Given the description of an element on the screen output the (x, y) to click on. 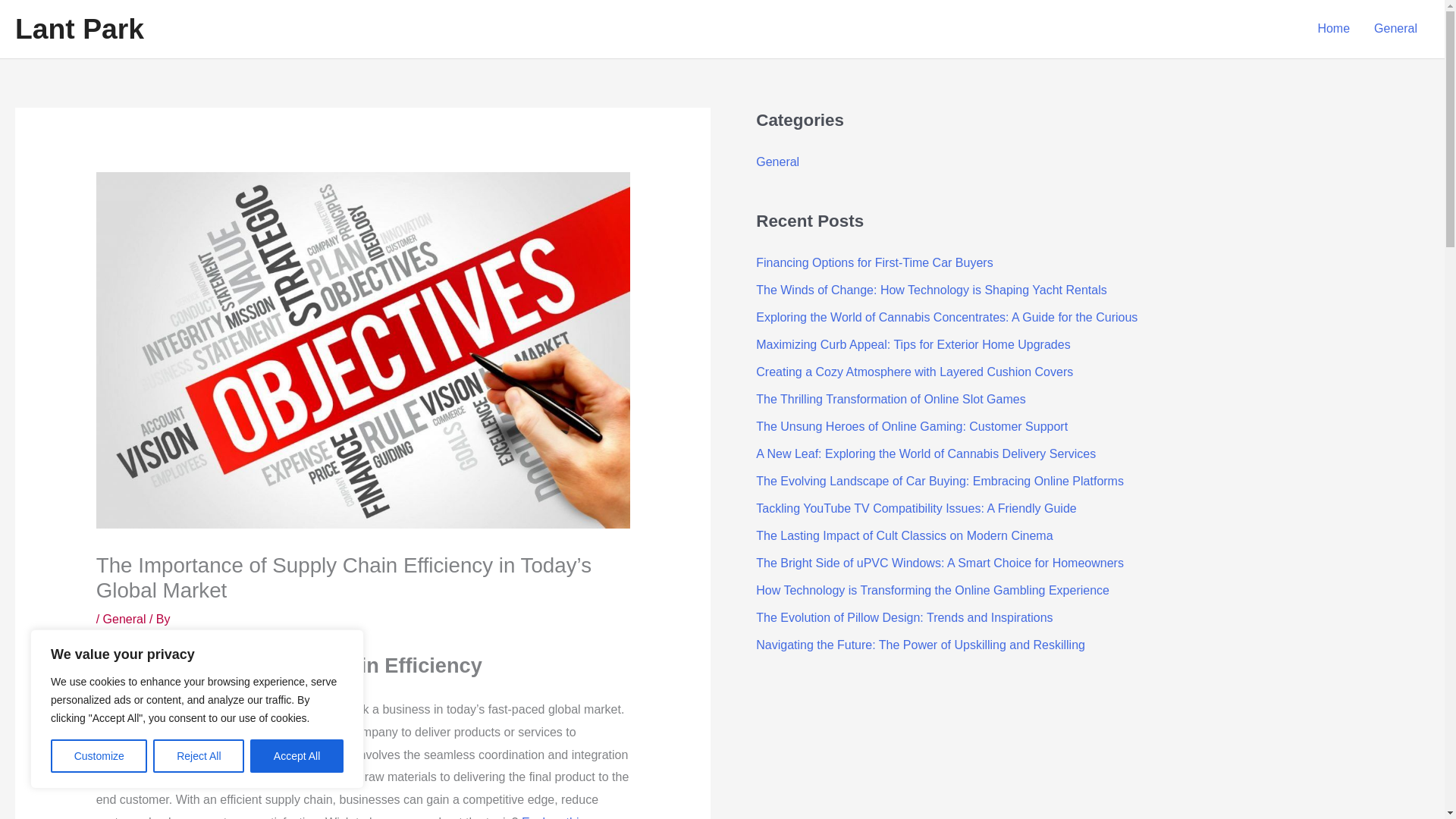
Home (1332, 28)
General (1395, 28)
The Winds of Change: How Technology is Shaping Yacht Rentals (930, 289)
The Thrilling Transformation of Online Slot Games (890, 399)
Financing Options for First-Time Car Buyers (873, 262)
Accept All (296, 756)
General (125, 618)
Lant Park (79, 29)
General (777, 161)
